Given the description of an element on the screen output the (x, y) to click on. 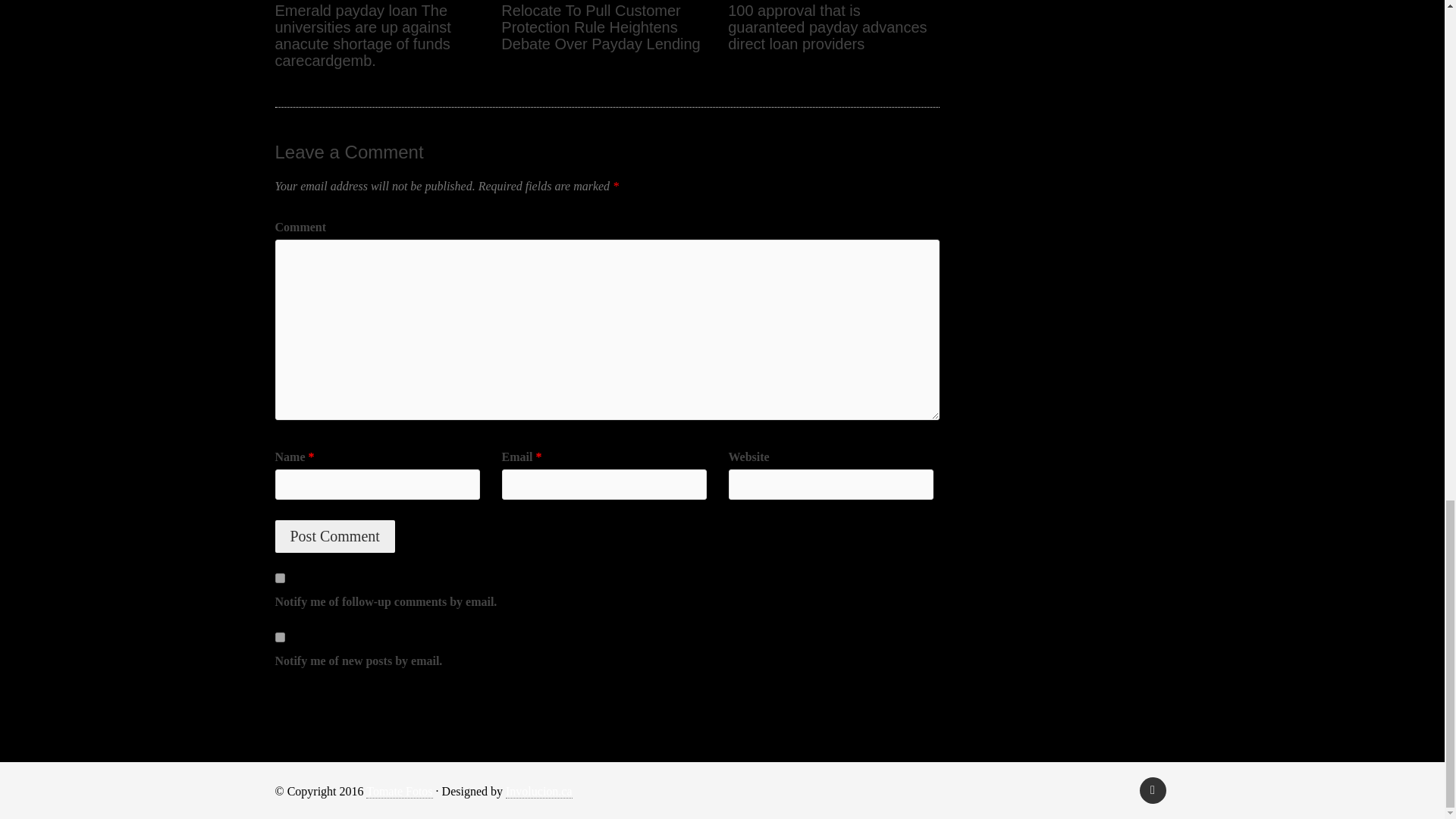
Post Comment (334, 536)
subscribe (279, 637)
Involucion.ca (538, 791)
subscribe (279, 578)
Tomate Fotos (399, 791)
Post Comment (334, 536)
